Given the description of an element on the screen output the (x, y) to click on. 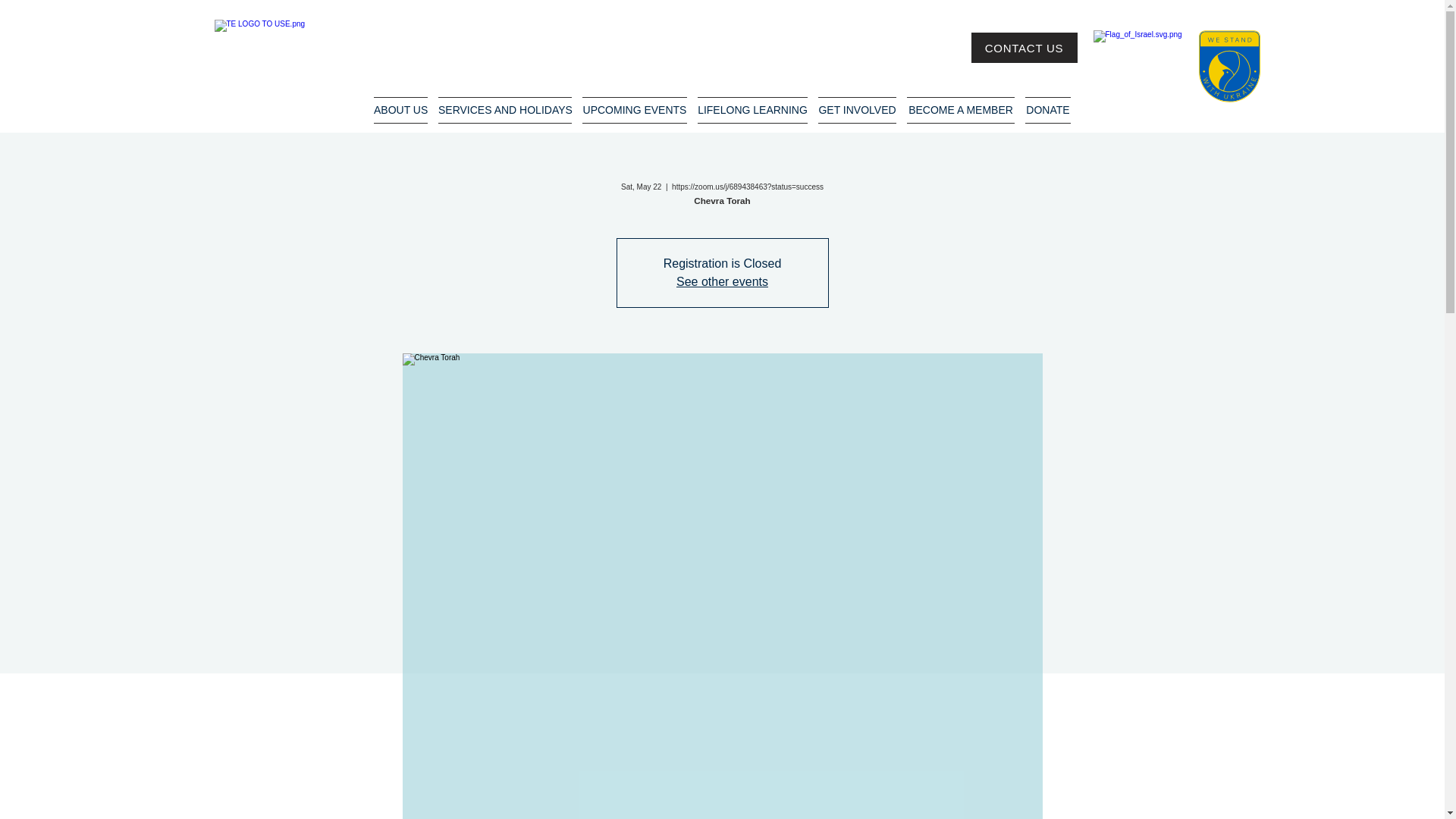
ABOUT US (400, 110)
DONATE (1047, 110)
SERVICES AND HOLIDAYS (504, 110)
LIFELONG LEARNING (752, 110)
GET INVOLVED (856, 110)
CONTACT US (1024, 47)
BECOME A MEMBER (960, 110)
UPCOMING EVENTS (634, 110)
See other events (722, 281)
